Given the description of an element on the screen output the (x, y) to click on. 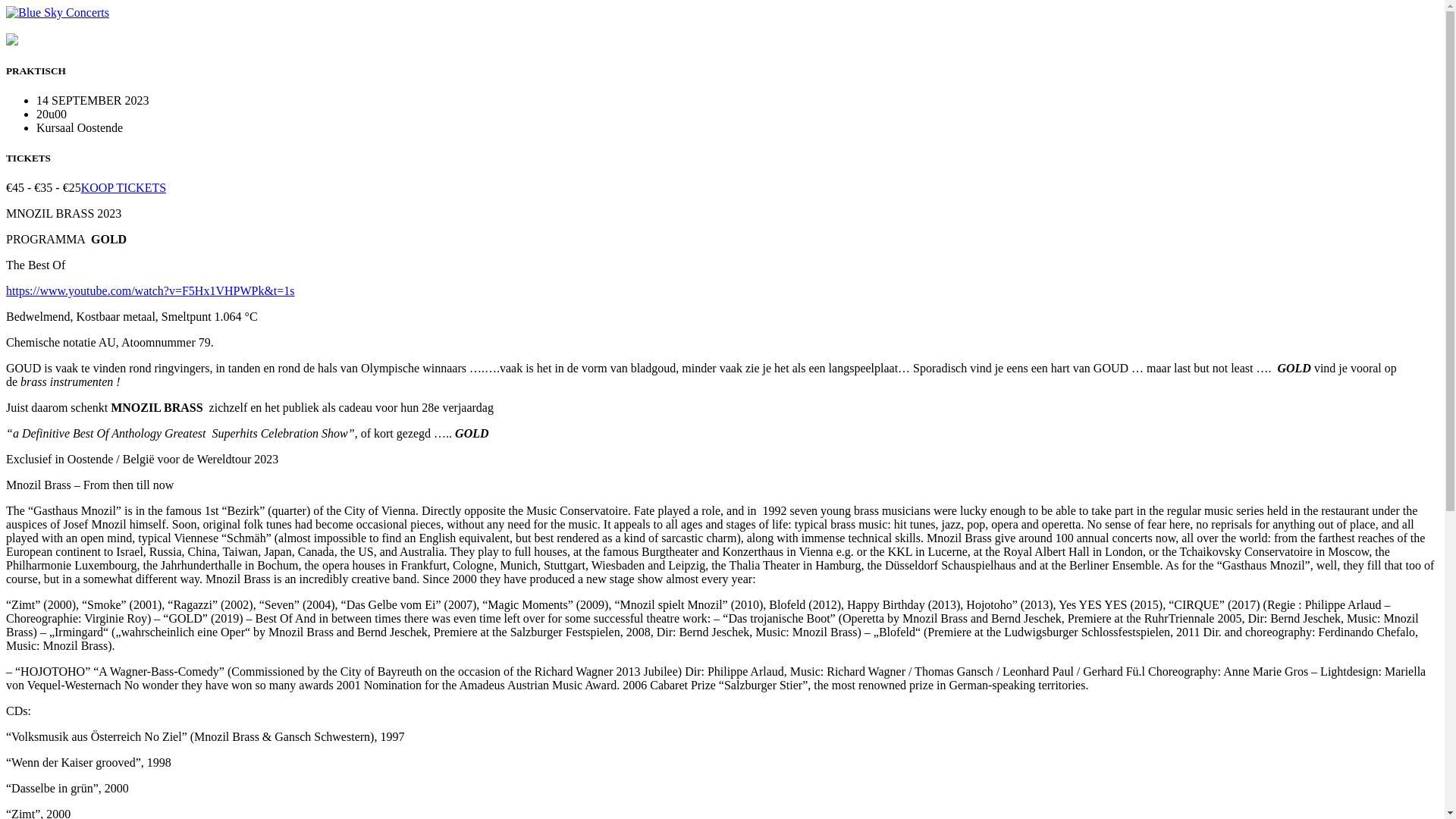
KOOP TICKETS Element type: text (123, 187)
https://www.youtube.com/watch?v=F5Hx1VHPWPk&t=1s Element type: text (150, 290)
